Given the description of an element on the screen output the (x, y) to click on. 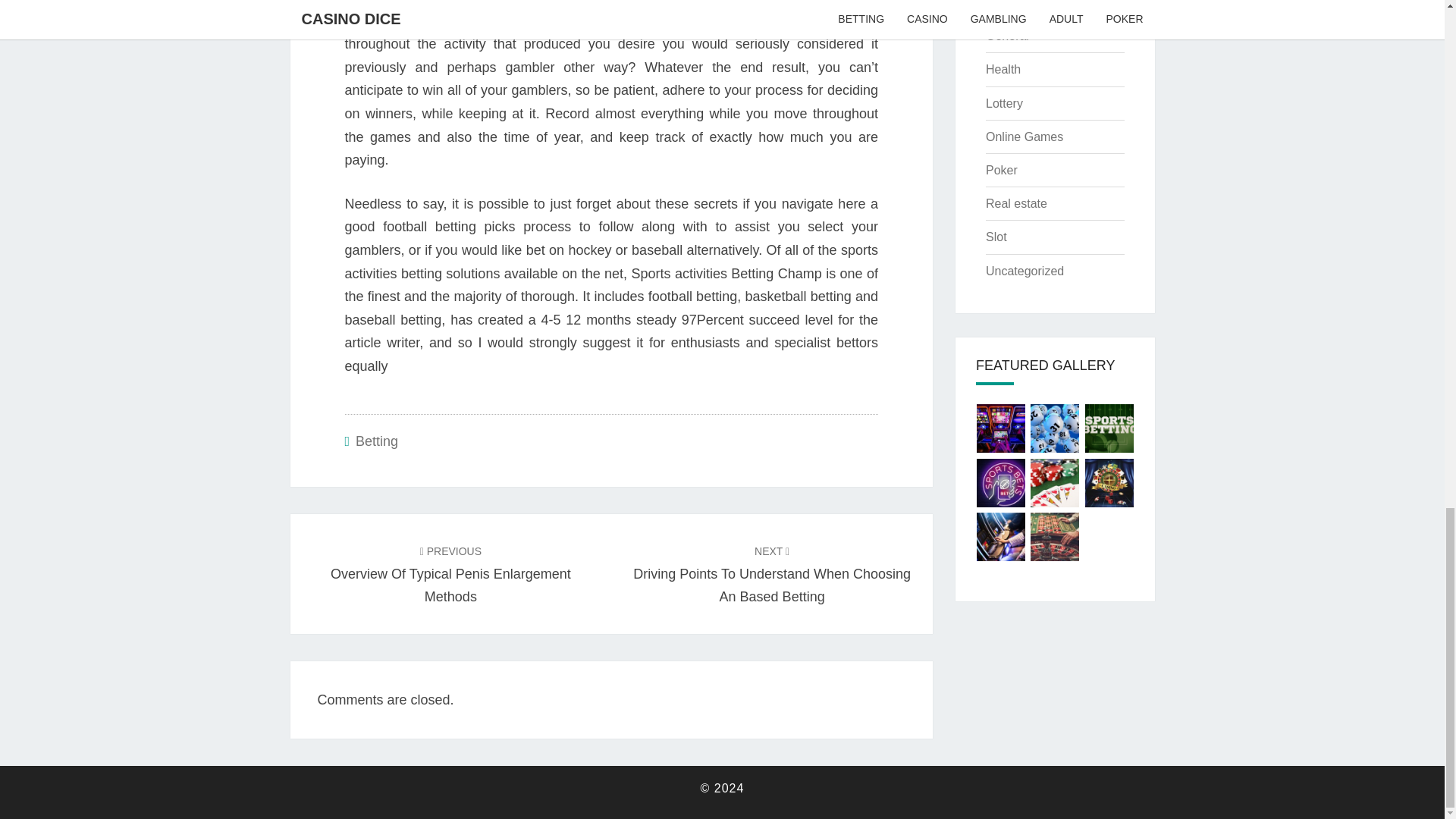
General (1007, 35)
Slot (996, 236)
Real estate (450, 573)
Lottery (1015, 203)
Online Games (1004, 103)
Health (1023, 136)
Uncategorized (1002, 69)
Gambling (1024, 270)
Poker (1010, 4)
Betting (1001, 169)
